Given the description of an element on the screen output the (x, y) to click on. 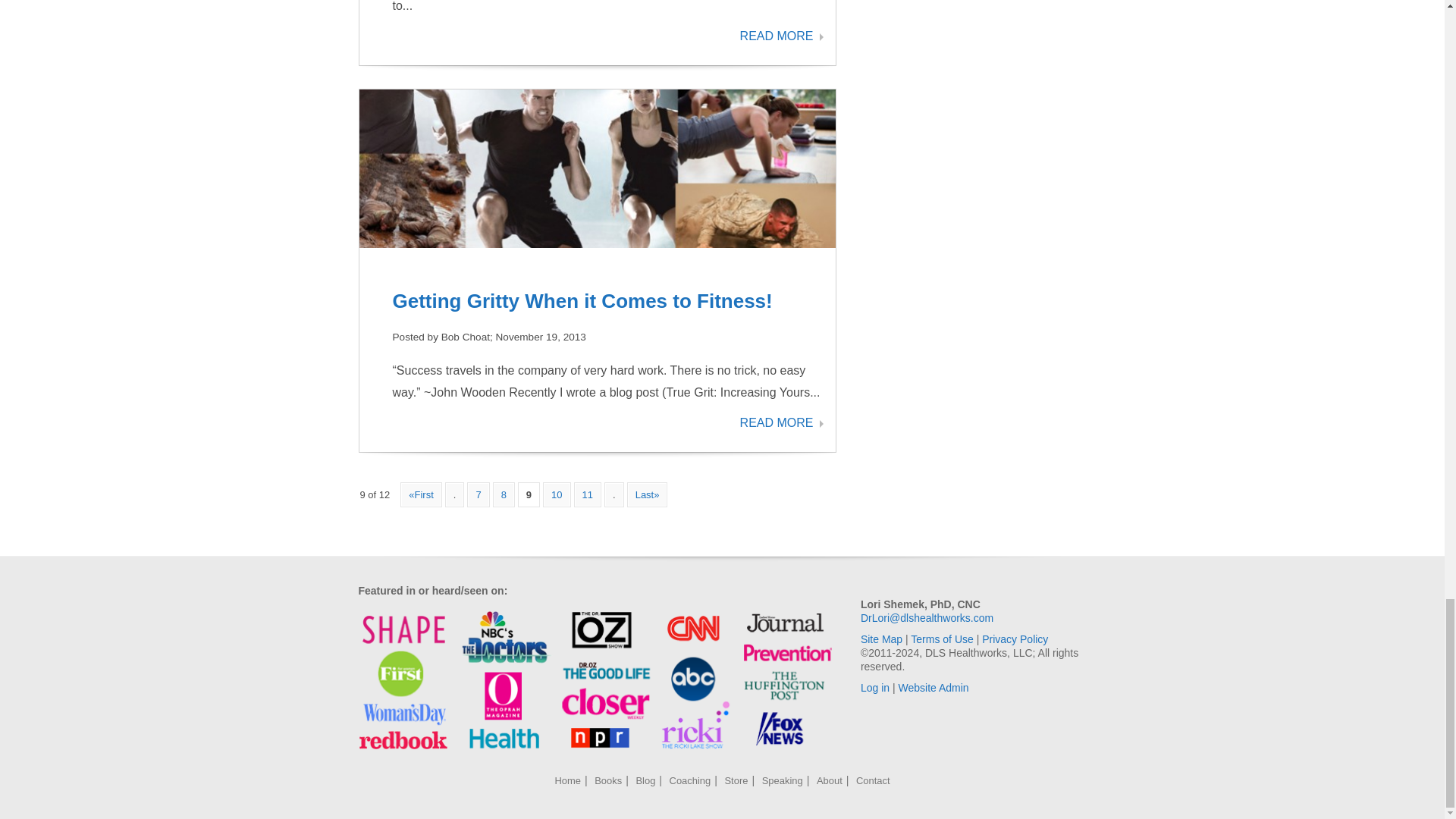
Page 11 (587, 494)
Page 10 (556, 494)
